Given the description of an element on the screen output the (x, y) to click on. 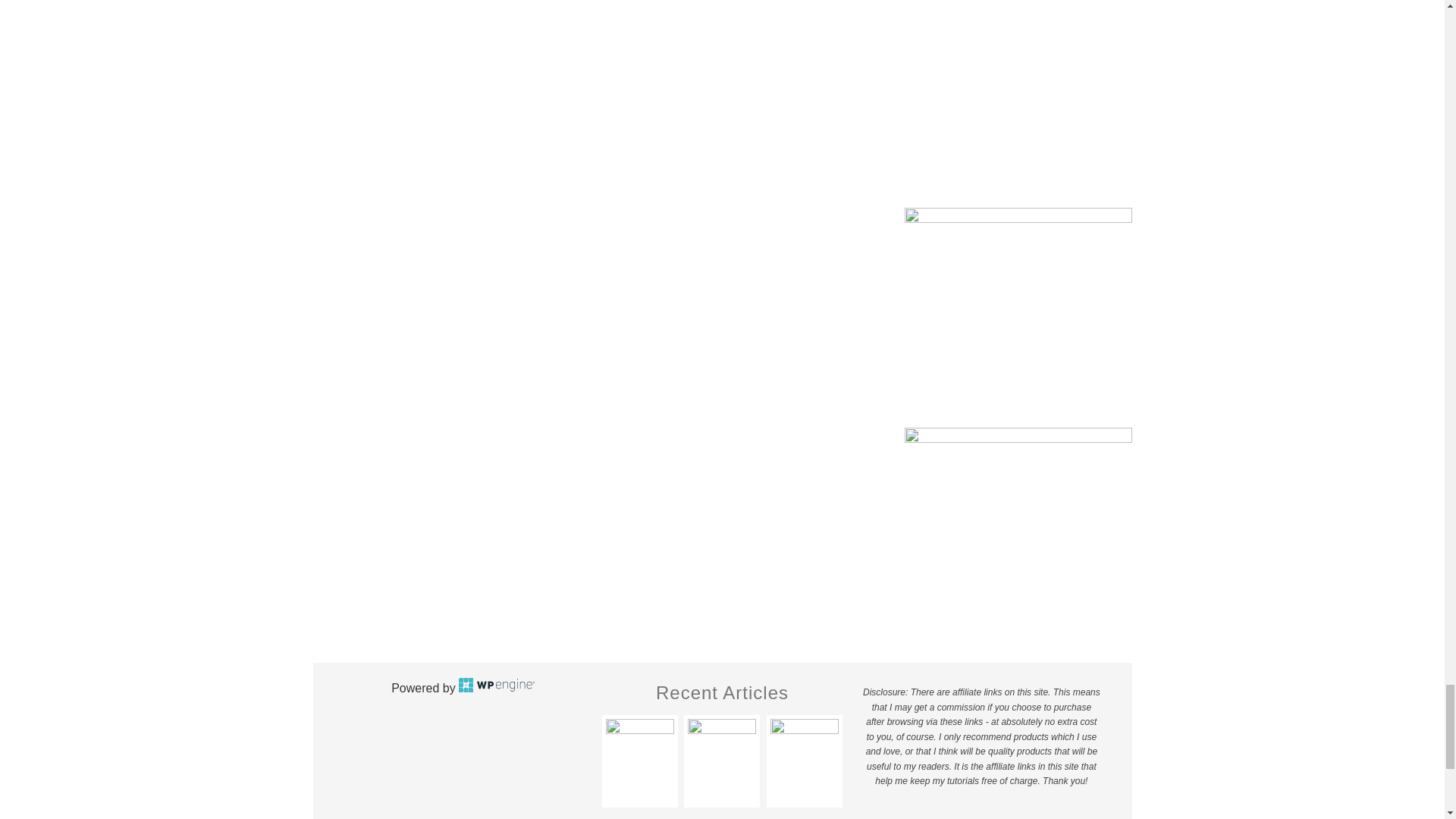
Managed WordPress Hosting (496, 687)
How to Canva: Colour Picker Tool (721, 753)
New Rainbow Cross Stitch Blocks (639, 753)
Is it too late to Sew a Quilt before Christmas? (804, 753)
